Given the description of an element on the screen output the (x, y) to click on. 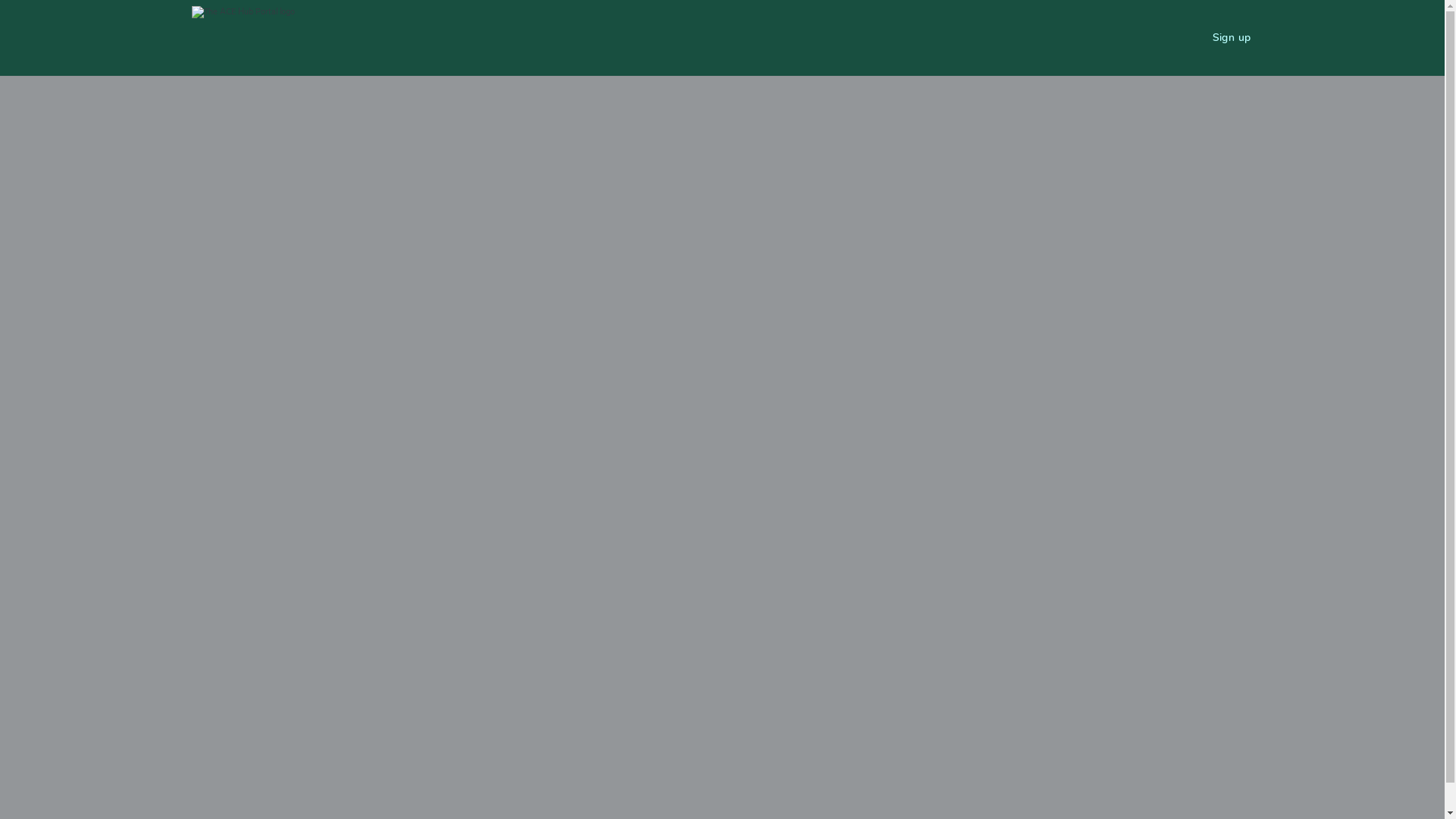
Sign up Element type: text (1231, 37)
